Given the description of an element on the screen output the (x, y) to click on. 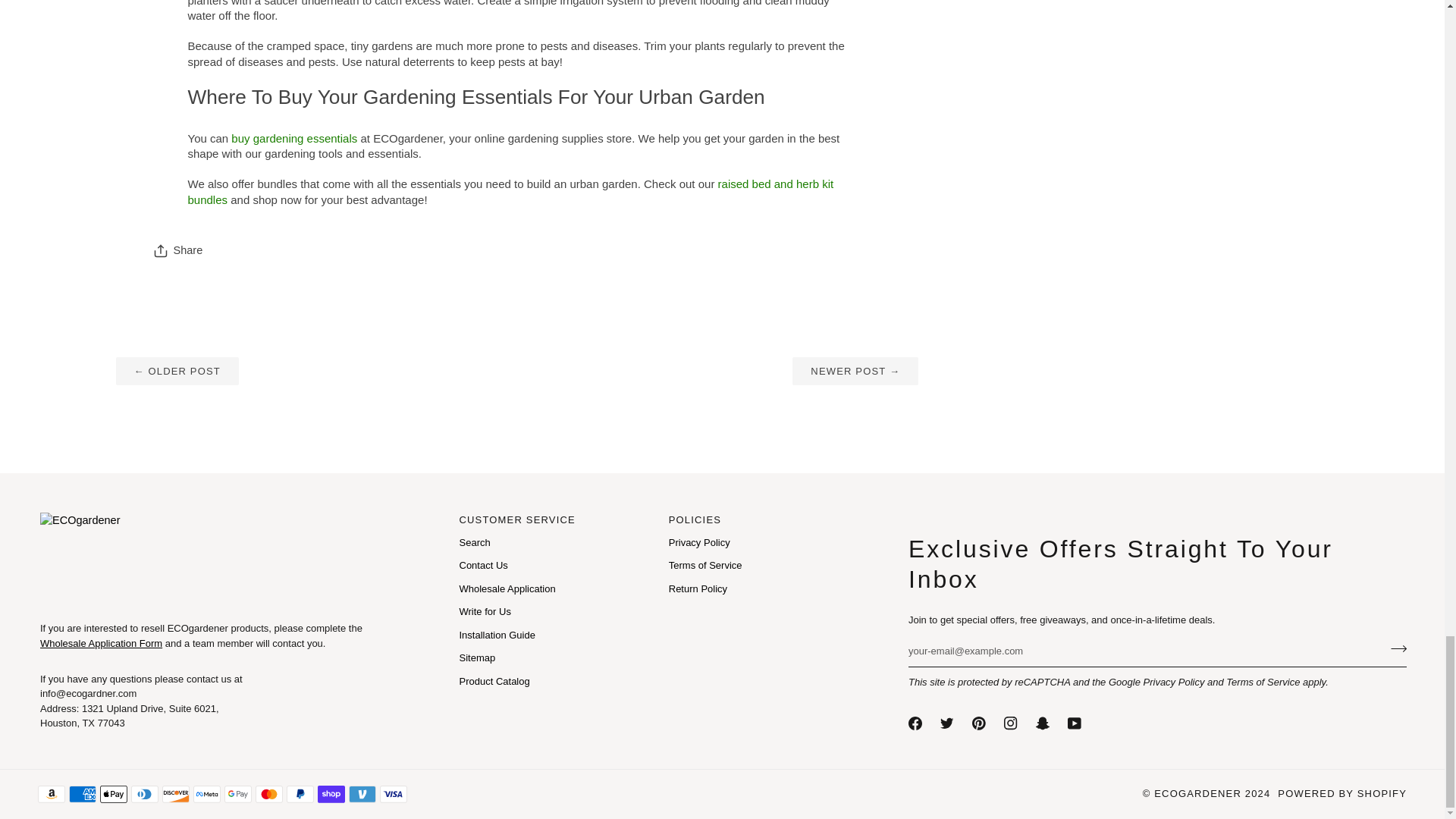
YouTube (1074, 723)
Instagram (1010, 723)
AMAZON (51, 793)
Twitter (946, 723)
Snapchat (1042, 723)
Wholesale (100, 643)
Pinterest (978, 723)
AMERICAN EXPRESS (82, 793)
APPLE PAY (114, 793)
DINERS CLUB (144, 793)
